Given the description of an element on the screen output the (x, y) to click on. 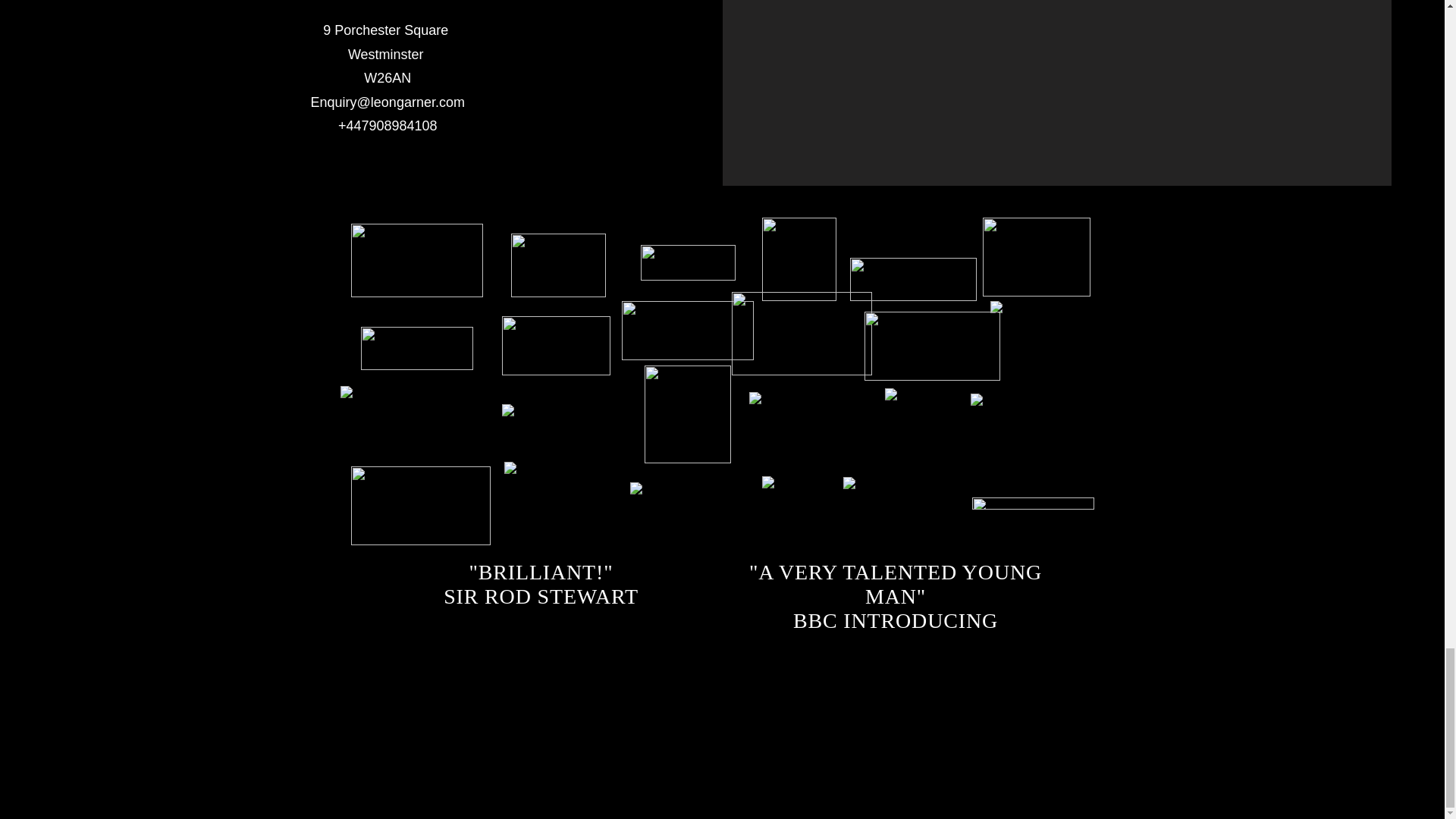
white badrutt.png (415, 260)
soho white.png (558, 265)
forbes white logo.png (687, 262)
